Given the description of an element on the screen output the (x, y) to click on. 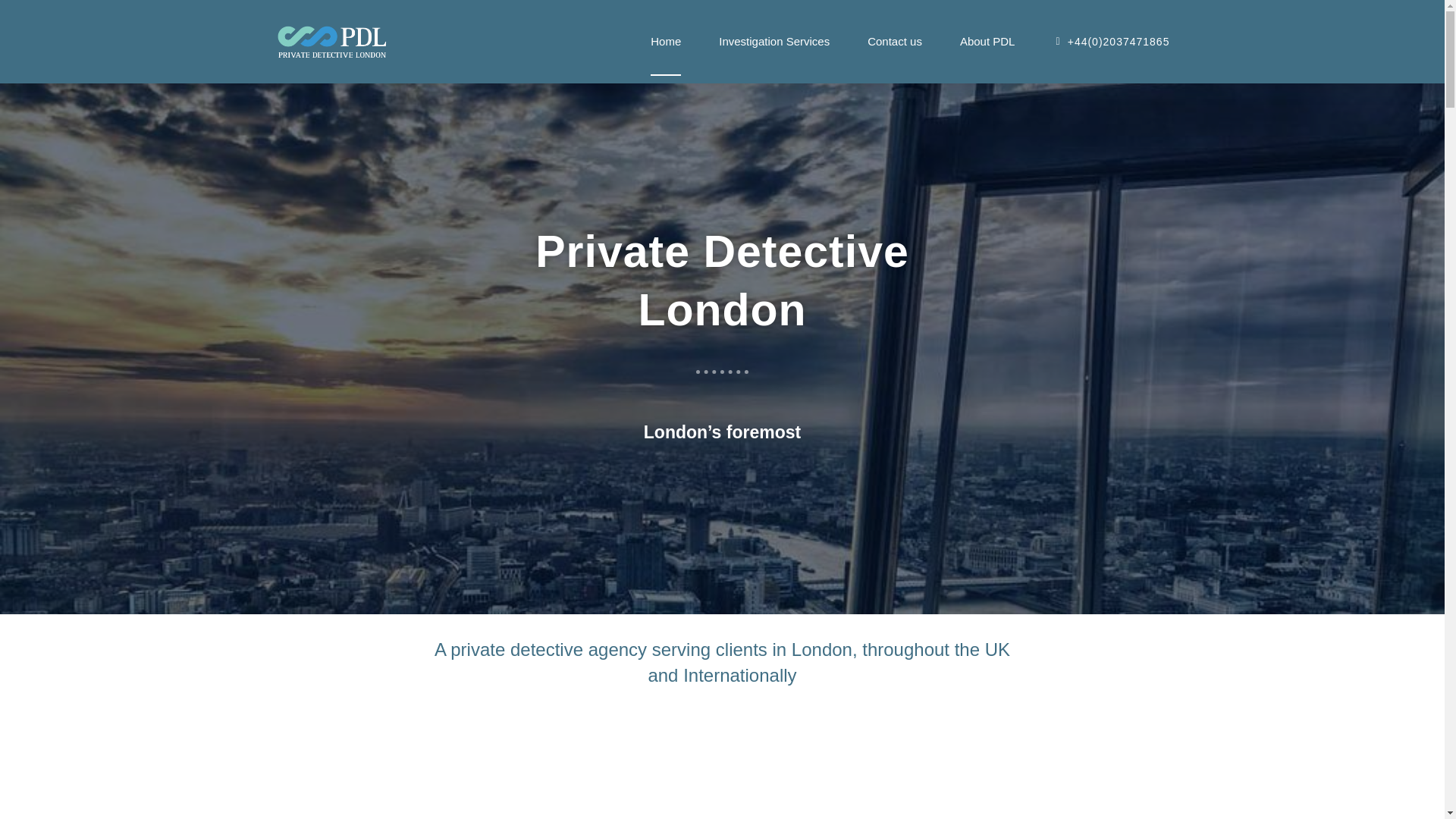
Investigation Services (774, 41)
